Given the description of an element on the screen output the (x, y) to click on. 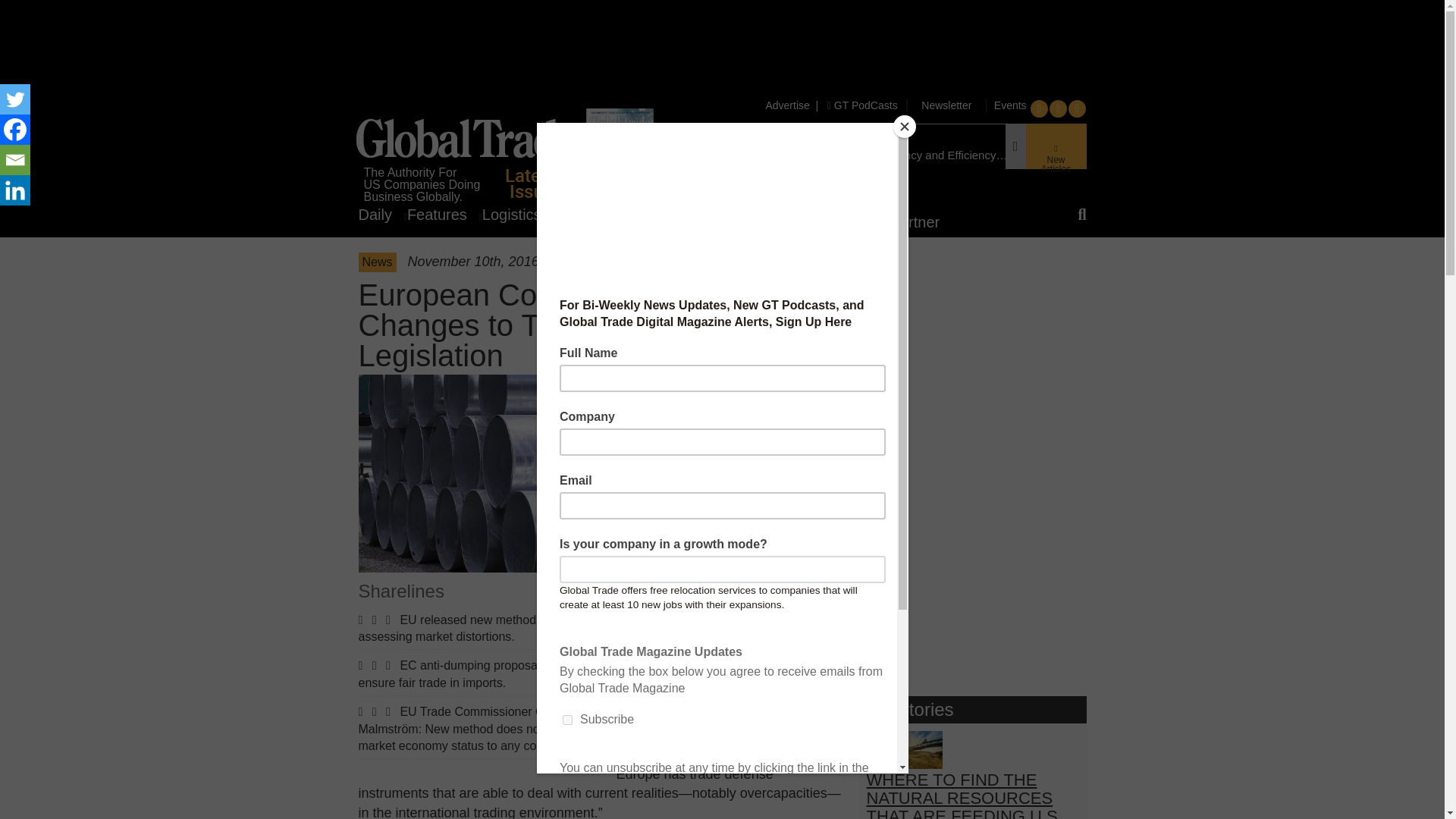
Email (15, 159)
Twitter (15, 99)
Newsletter (945, 105)
GT PodCasts (862, 105)
  Events  (1008, 105)
Daily (382, 214)
Facebook (15, 129)
Linkedin (15, 190)
Hide (5, 219)
